Given the description of an element on the screen output the (x, y) to click on. 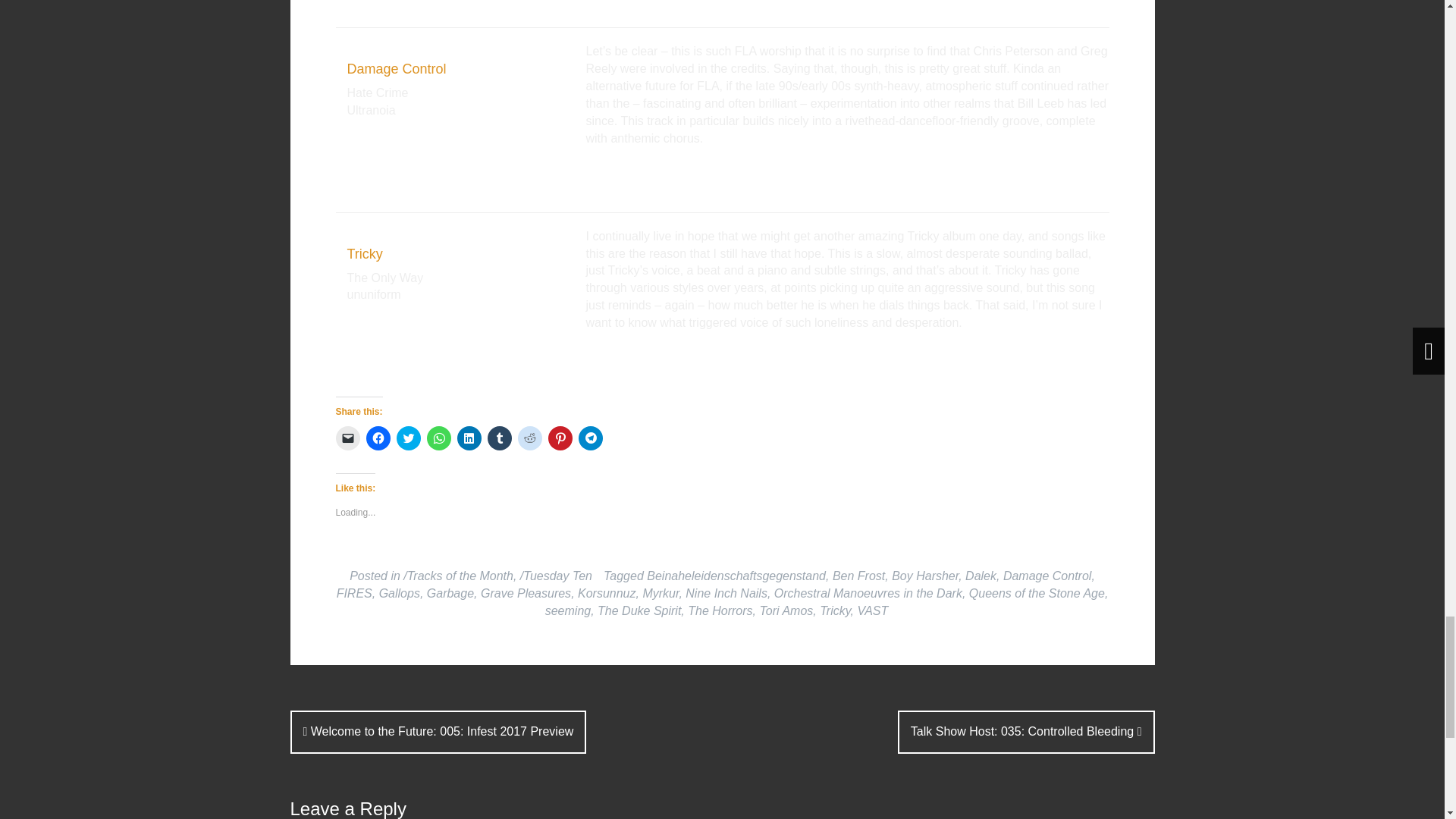
Click to share on Reddit (528, 437)
Click to share on Pinterest (559, 437)
Click to share on Facebook (377, 437)
Click to share on LinkedIn (468, 437)
Click to share on Tumblr (498, 437)
Click to share on WhatsApp (437, 437)
Click to share on Twitter (408, 437)
Click to email a link to a friend (346, 437)
Click to share on Telegram (590, 437)
